Given the description of an element on the screen output the (x, y) to click on. 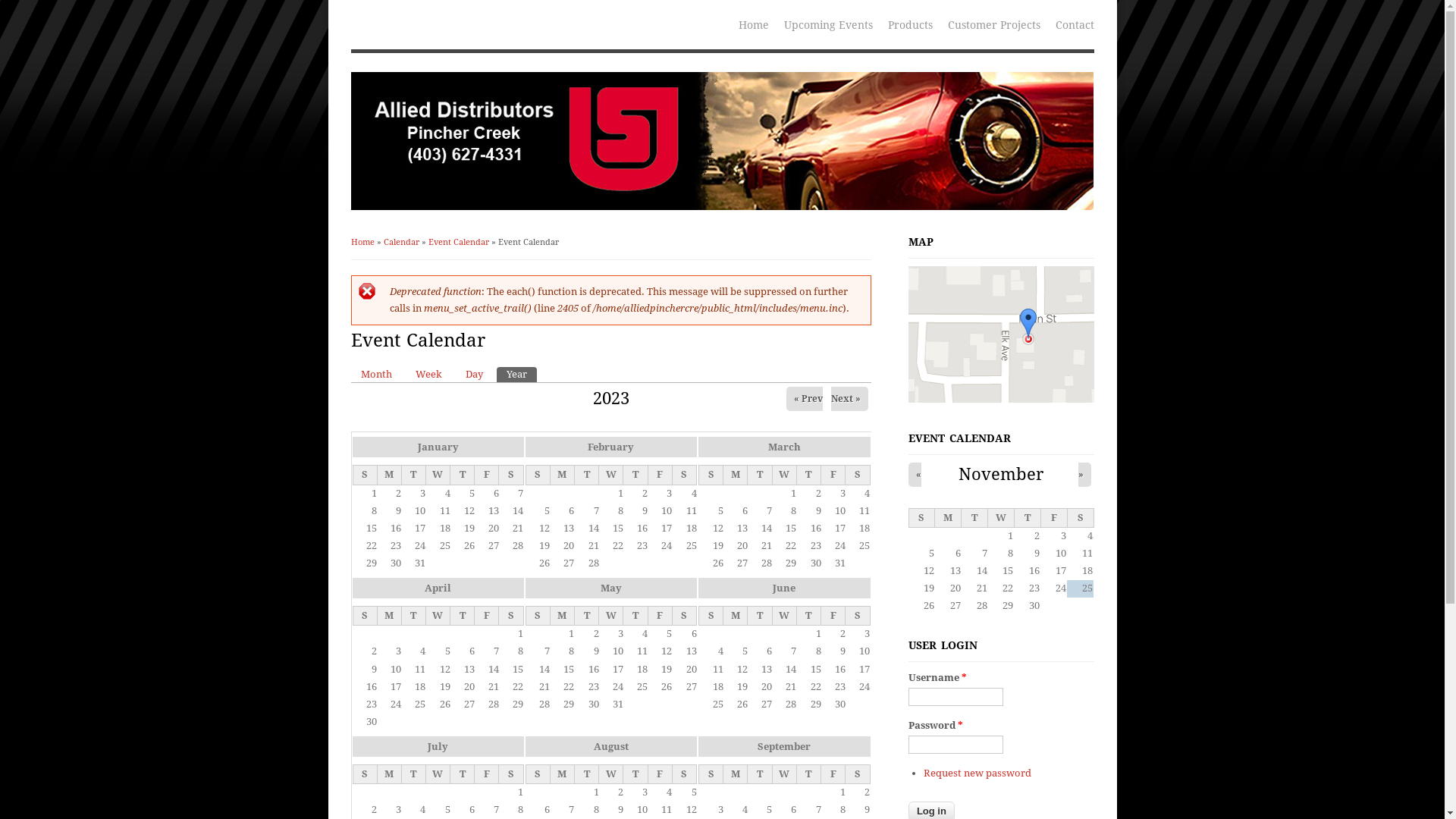
Products Element type: text (909, 24)
Contact Element type: text (1074, 24)
Calendar Element type: text (401, 242)
Request new password Element type: text (977, 772)
Day Element type: text (473, 374)
Year
(active tab) Element type: text (515, 374)
Event Calendar Element type: text (457, 242)
July Element type: text (437, 746)
March Element type: text (784, 446)
May Element type: text (610, 587)
April Element type: text (437, 587)
Customer Projects Element type: text (994, 24)
Upcoming Events Element type: text (828, 24)
June Element type: text (783, 587)
Month Element type: text (375, 374)
September Element type: text (783, 746)
Home Element type: text (361, 242)
November Element type: text (1000, 473)
Week Element type: text (427, 374)
Home Element type: text (753, 24)
February Element type: text (610, 446)
August Element type: text (610, 746)
January Element type: text (437, 446)
